Given the description of an element on the screen output the (x, y) to click on. 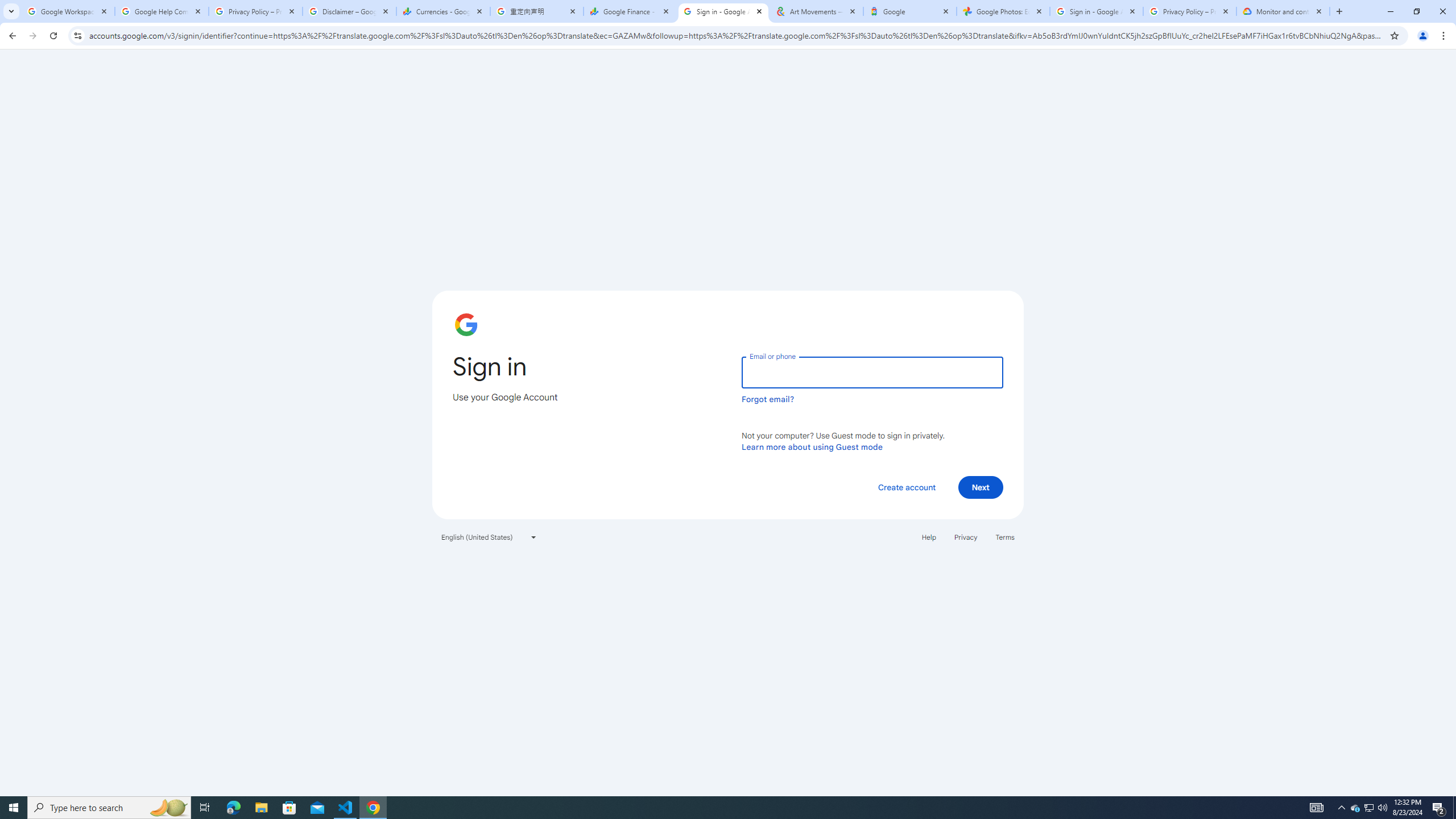
Add a Place (288, 285)
OneDrive (288, 183)
Print (59, 504)
Shared with Me (288, 145)
Info (59, 318)
